Given the description of an element on the screen output the (x, y) to click on. 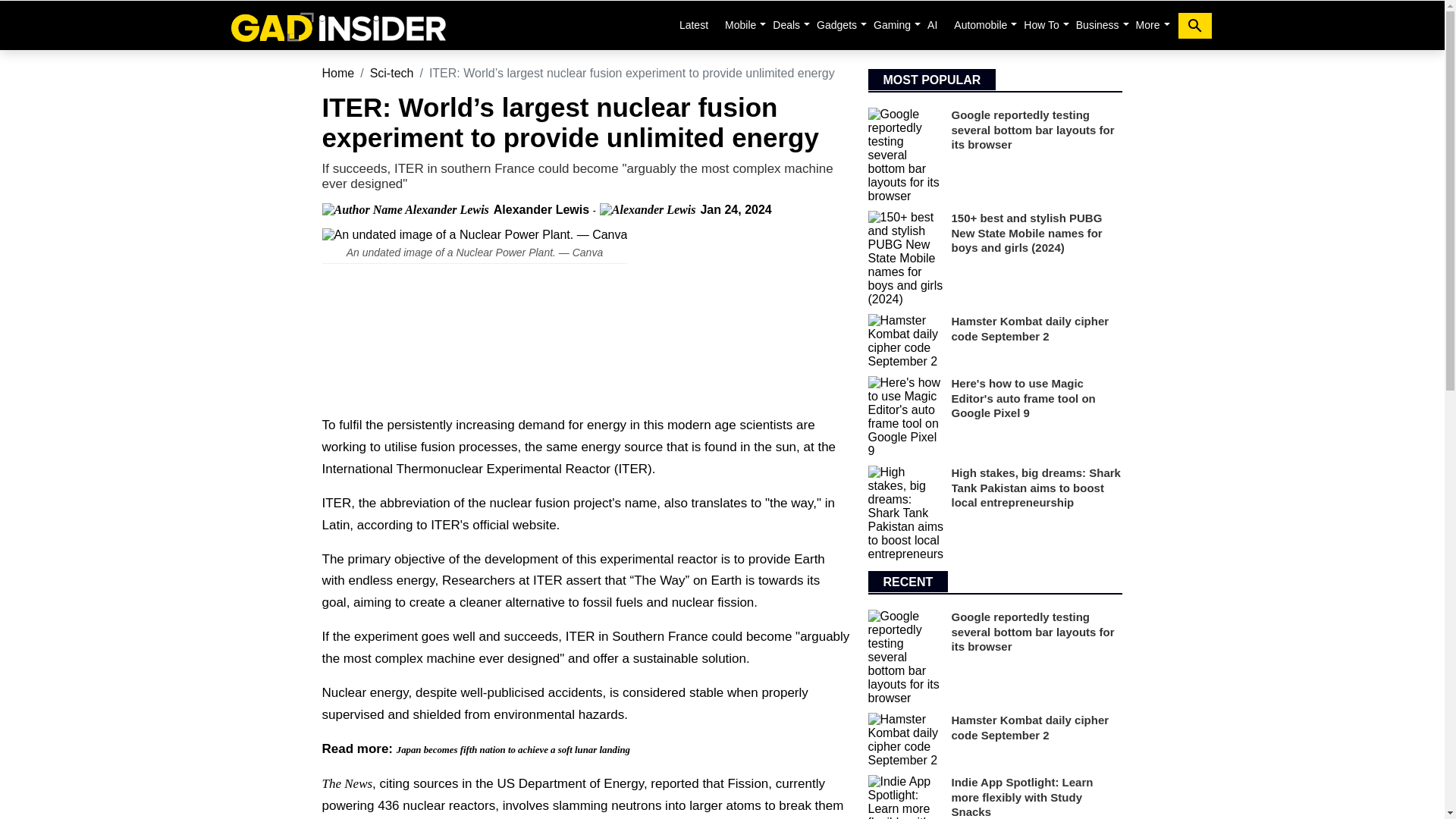
Automobile (980, 24)
Home (337, 72)
Mobile (740, 24)
More (1147, 24)
Gadgets (836, 24)
Deals (786, 24)
Gaming (892, 24)
Home (337, 24)
Business (1097, 24)
AI (932, 24)
